Given the description of an element on the screen output the (x, y) to click on. 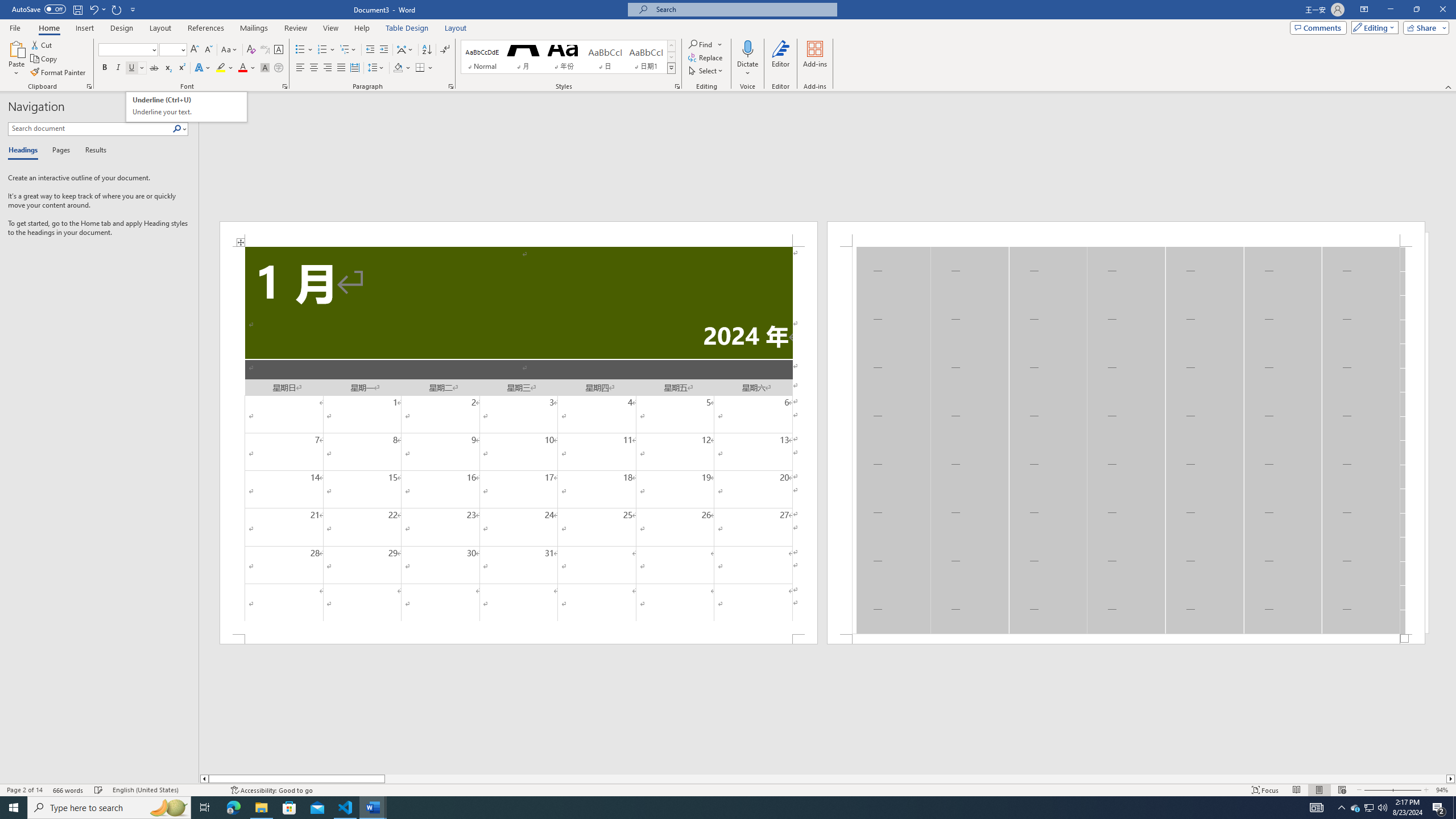
Line and Paragraph Spacing (376, 67)
Format Painter (58, 72)
Spelling and Grammar Check Checking (98, 790)
Font Color (246, 67)
Shading RGB(0, 0, 0) (397, 67)
Undo Apply Quick Style (92, 9)
